Given the description of an element on the screen output the (x, y) to click on. 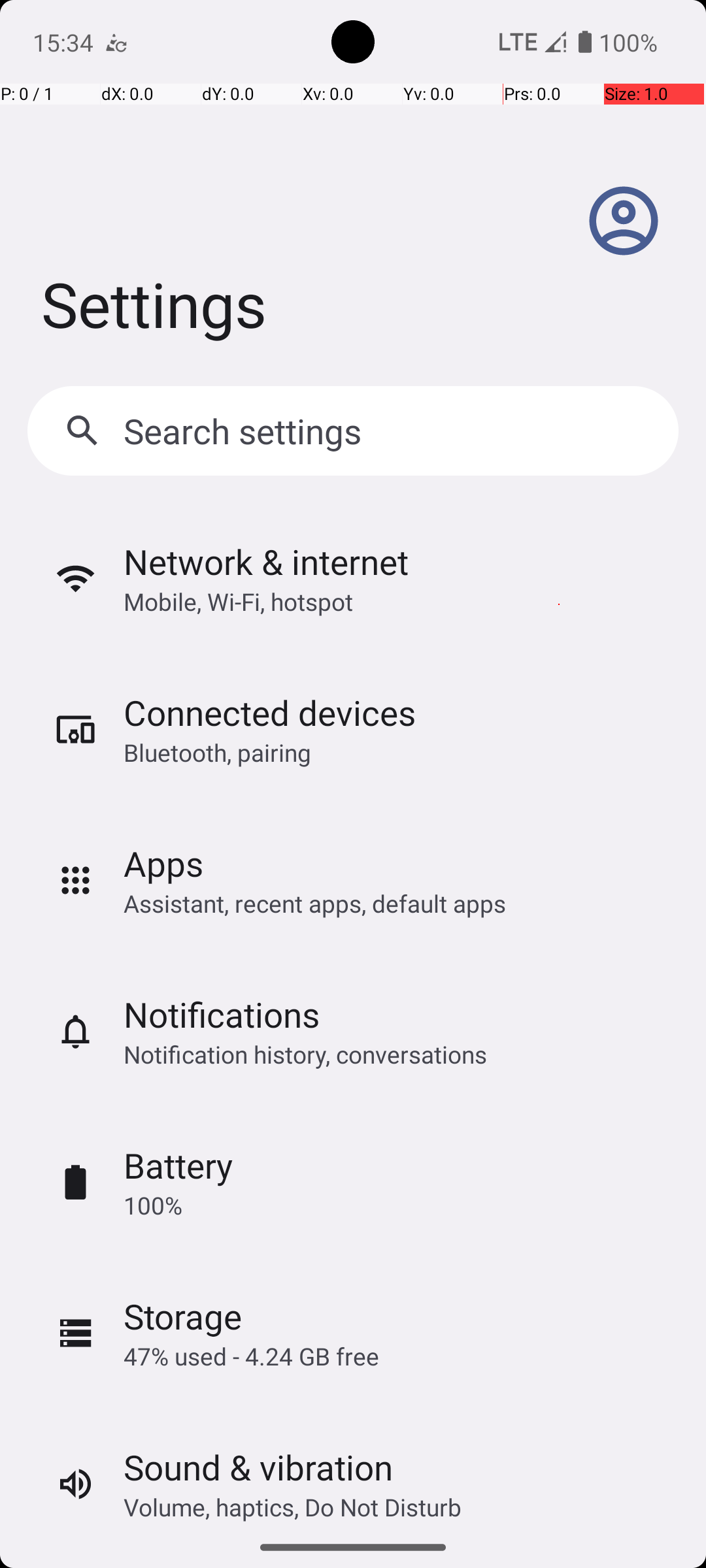
47% used - 4.24 GB free Element type: android.widget.TextView (251, 1355)
